Given the description of an element on the screen output the (x, y) to click on. 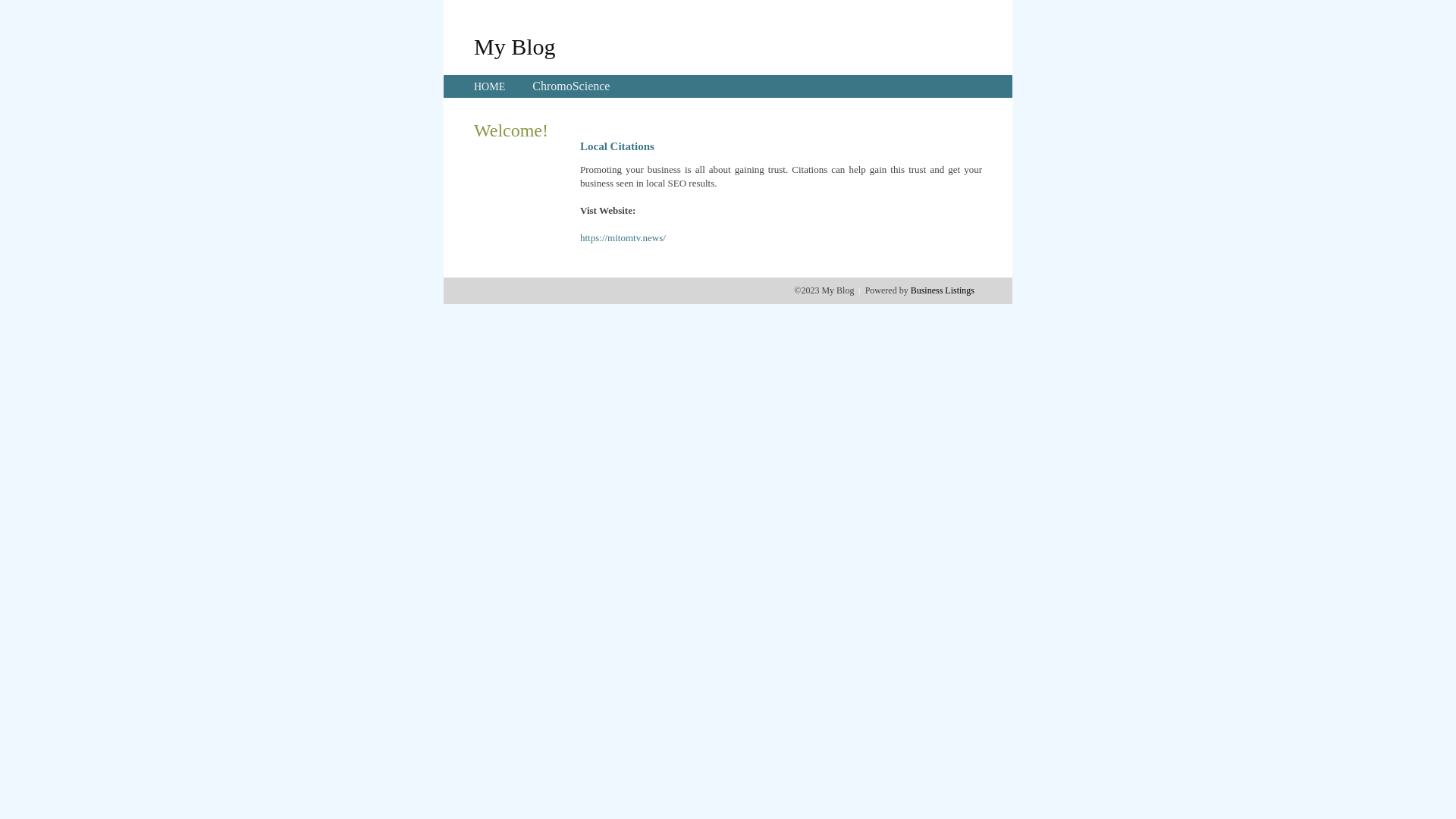
My Blog Element type: text (514, 46)
Business Listings Element type: text (942, 290)
HOME Element type: text (489, 86)
ChromoScience Element type: text (570, 85)
https://mitomtv.news/ Element type: text (622, 237)
